Given the description of an element on the screen output the (x, y) to click on. 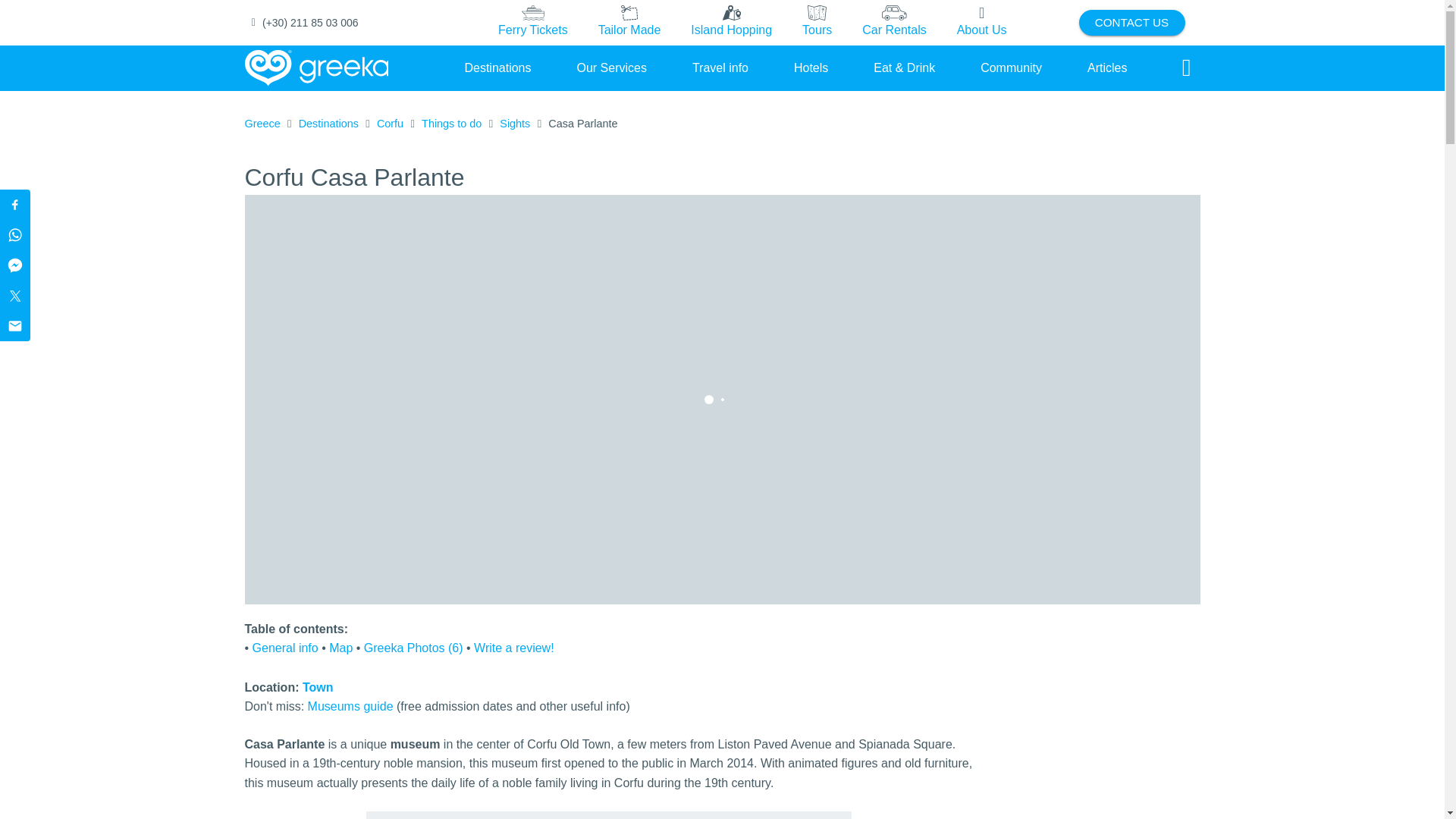
Write a review! (514, 647)
Casa Parlante (582, 123)
Community Feed (1010, 67)
About Us (982, 22)
Travel info (720, 67)
CONTACT US (1131, 22)
Articles (1106, 67)
Our Services (611, 67)
About Us (981, 22)
Map (340, 647)
Write a review! (514, 647)
Greece by Greeka (316, 67)
Museums guide (350, 706)
Car rentals (893, 22)
Destinations (497, 67)
